Given the description of an element on the screen output the (x, y) to click on. 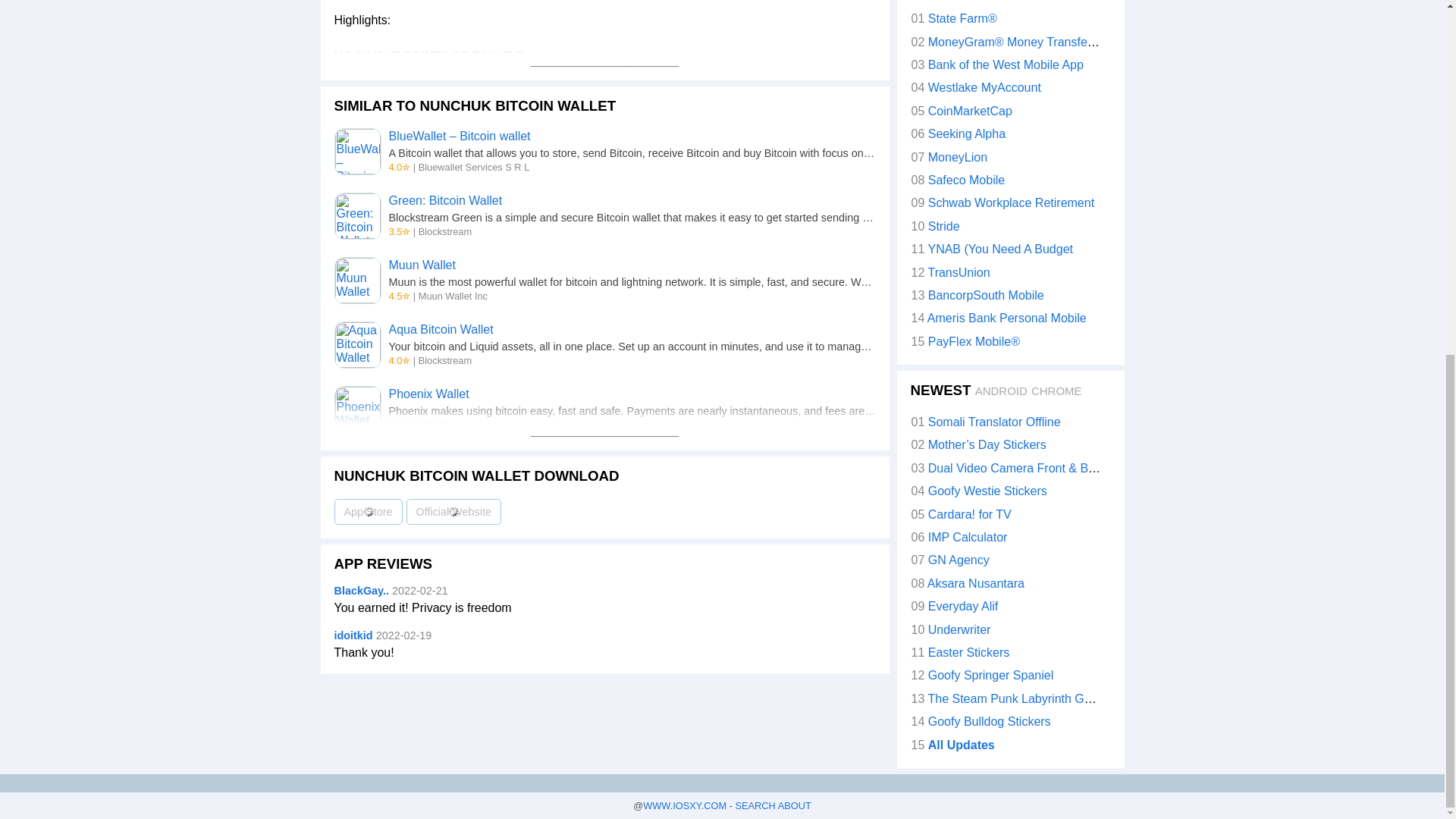
Muun Wallet Inc (453, 296)
Aqua Bitcoin Wallet (440, 328)
Bluewallet Services S R L (474, 166)
Muun Wallet (356, 280)
IOSXY (684, 805)
Muun Wallet (421, 264)
Phoenix Wallet (356, 409)
Green: Bitcoin Wallet (445, 200)
Blockstream (445, 231)
Phoenix Wallet (428, 393)
